Given the description of an element on the screen output the (x, y) to click on. 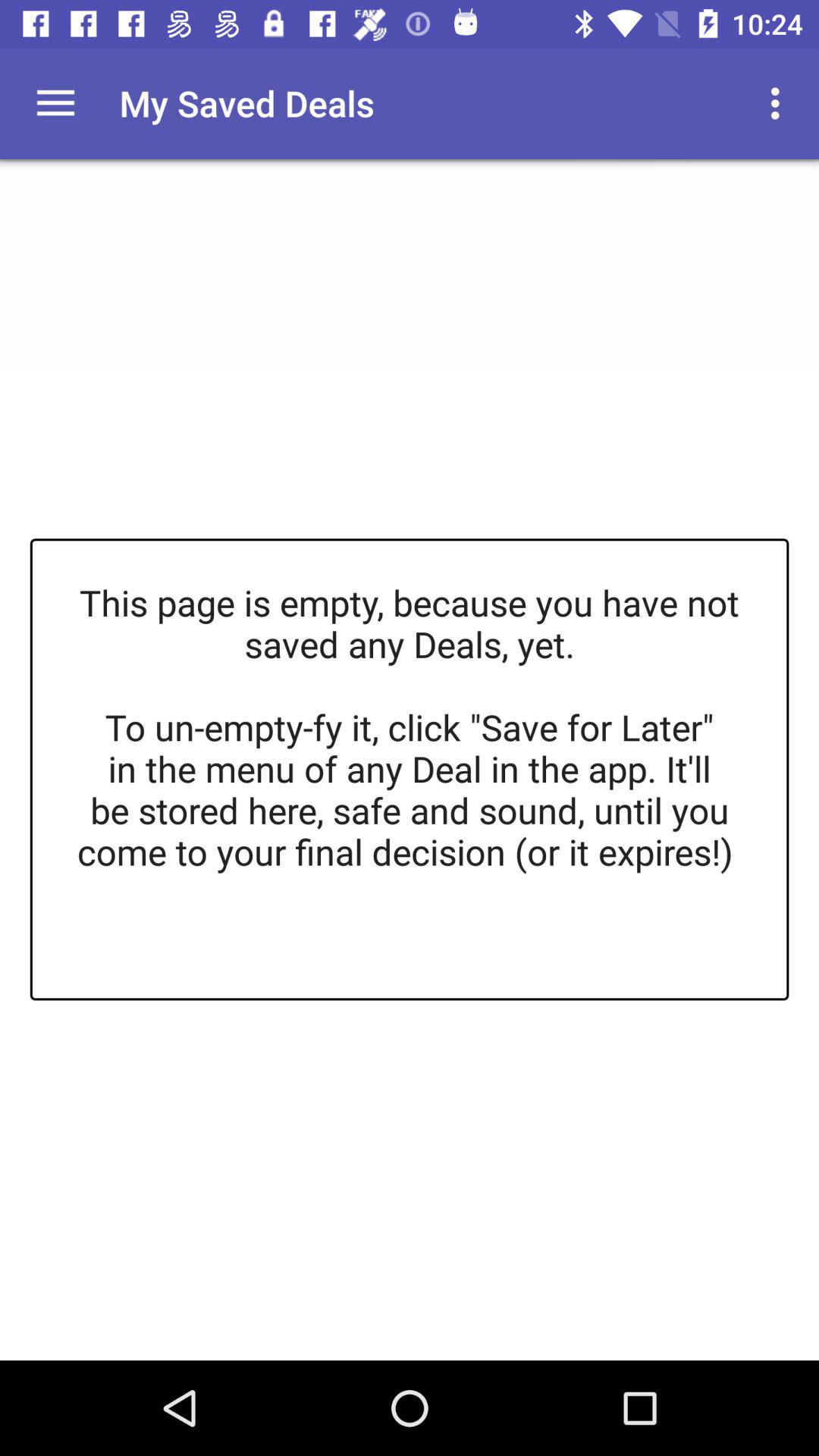
open the item at the top right corner (779, 103)
